Given the description of an element on the screen output the (x, y) to click on. 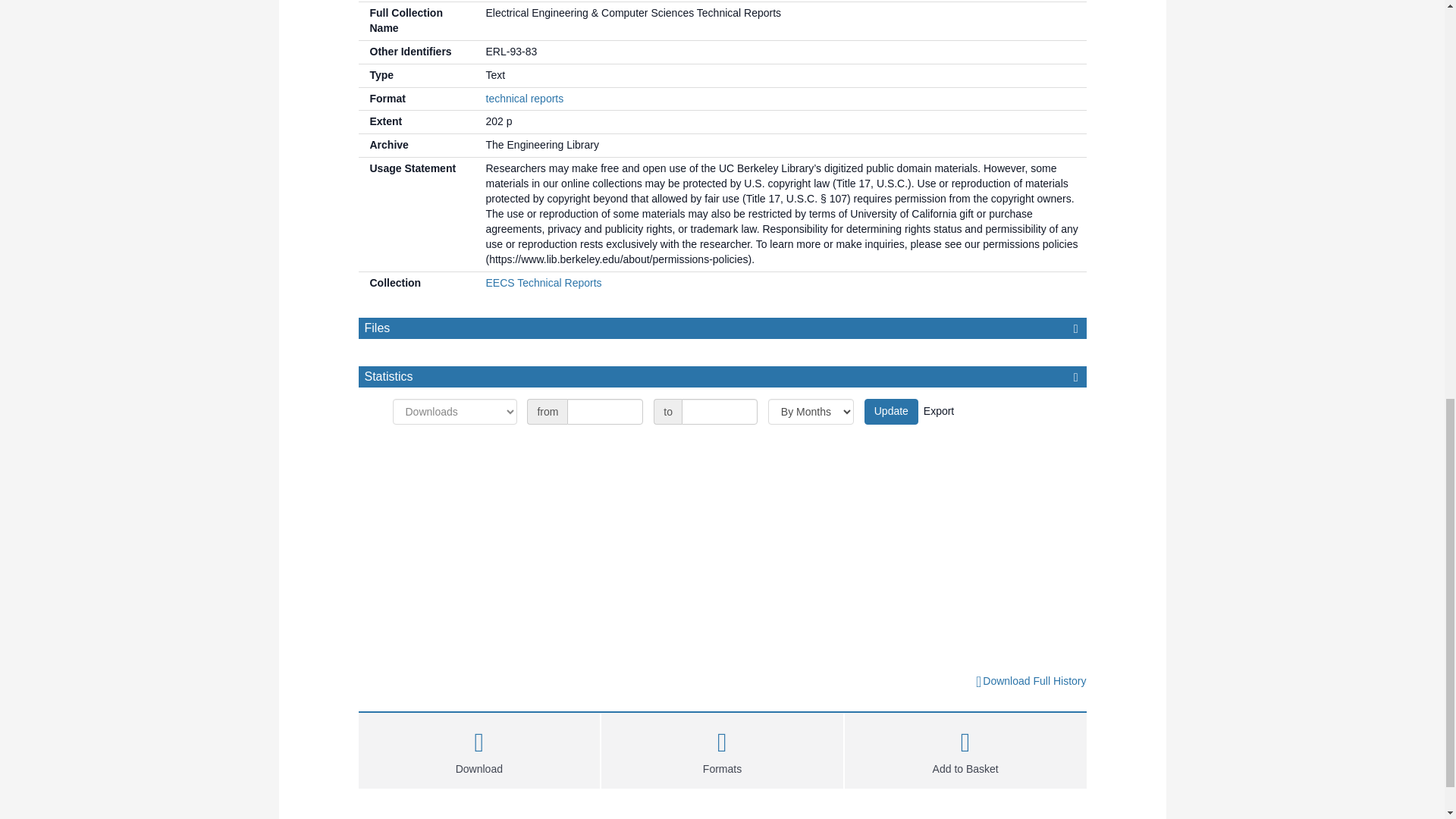
EECS Technical Reports (542, 282)
technical reports (523, 98)
Update (891, 411)
Download (478, 748)
Download Full History (1030, 681)
